Given the description of an element on the screen output the (x, y) to click on. 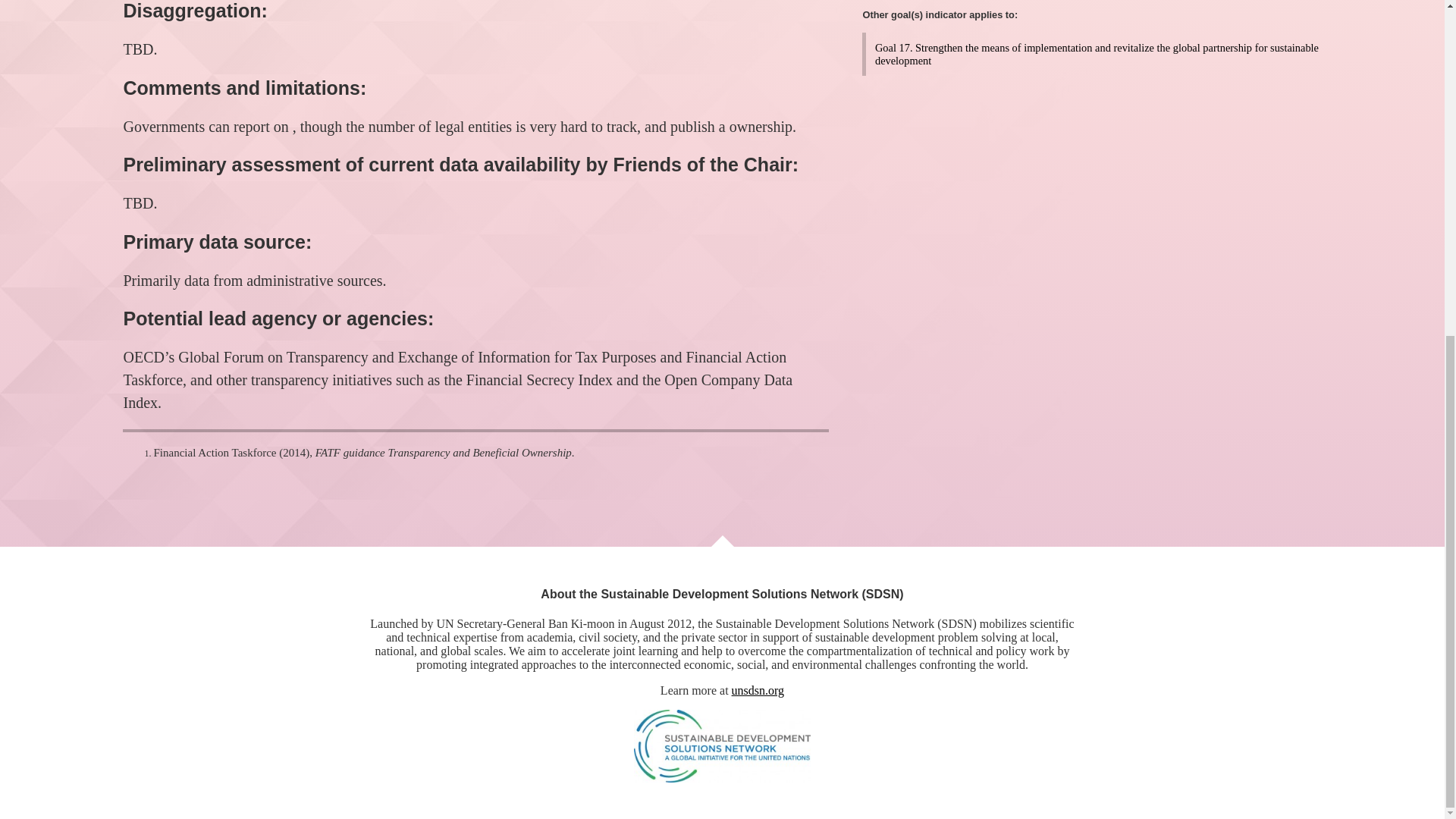
unsdsn.org (758, 689)
